Given the description of an element on the screen output the (x, y) to click on. 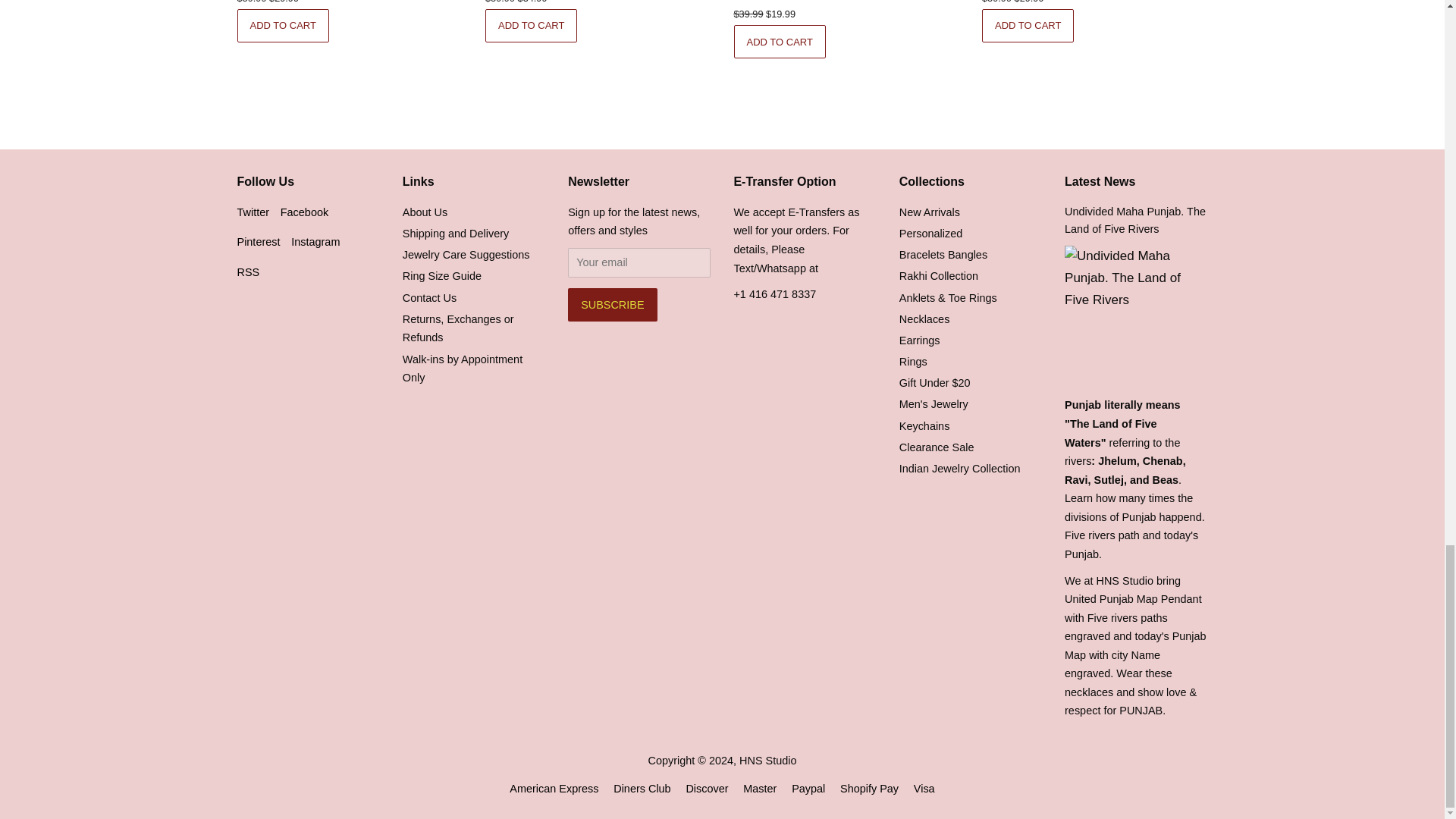
HNS Studio on RSS (247, 272)
HNS Studio on Twitter (252, 212)
HNS Studio on Instagram (315, 241)
Add to cart (779, 41)
Add to cart (530, 25)
HNS Studio on Facebook (305, 212)
Subscribe (611, 304)
Add to cart (1027, 25)
Add to cart (282, 25)
HNS Studio on Pinterest (257, 241)
